Given the description of an element on the screen output the (x, y) to click on. 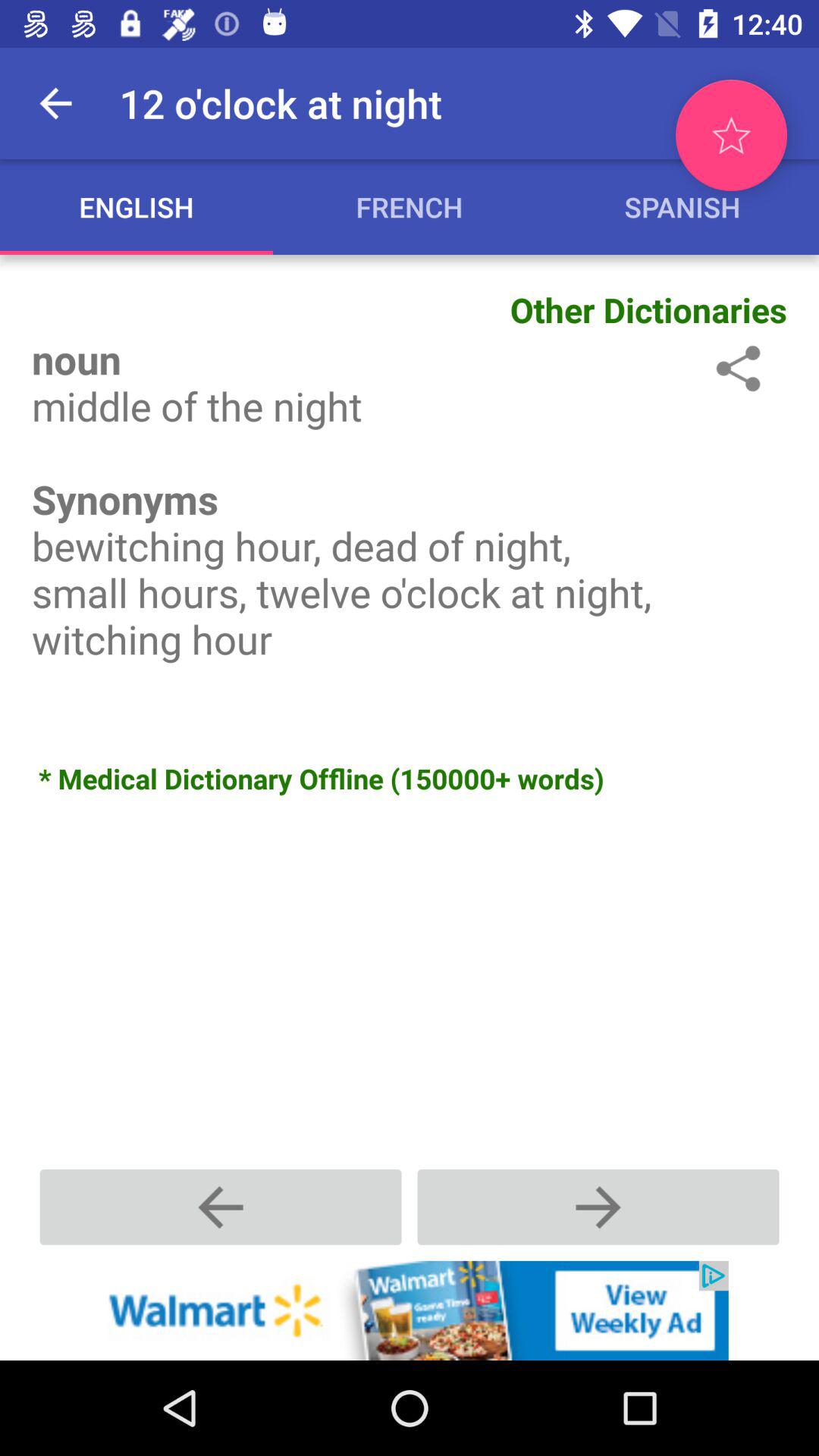
rating (731, 135)
